Given the description of an element on the screen output the (x, y) to click on. 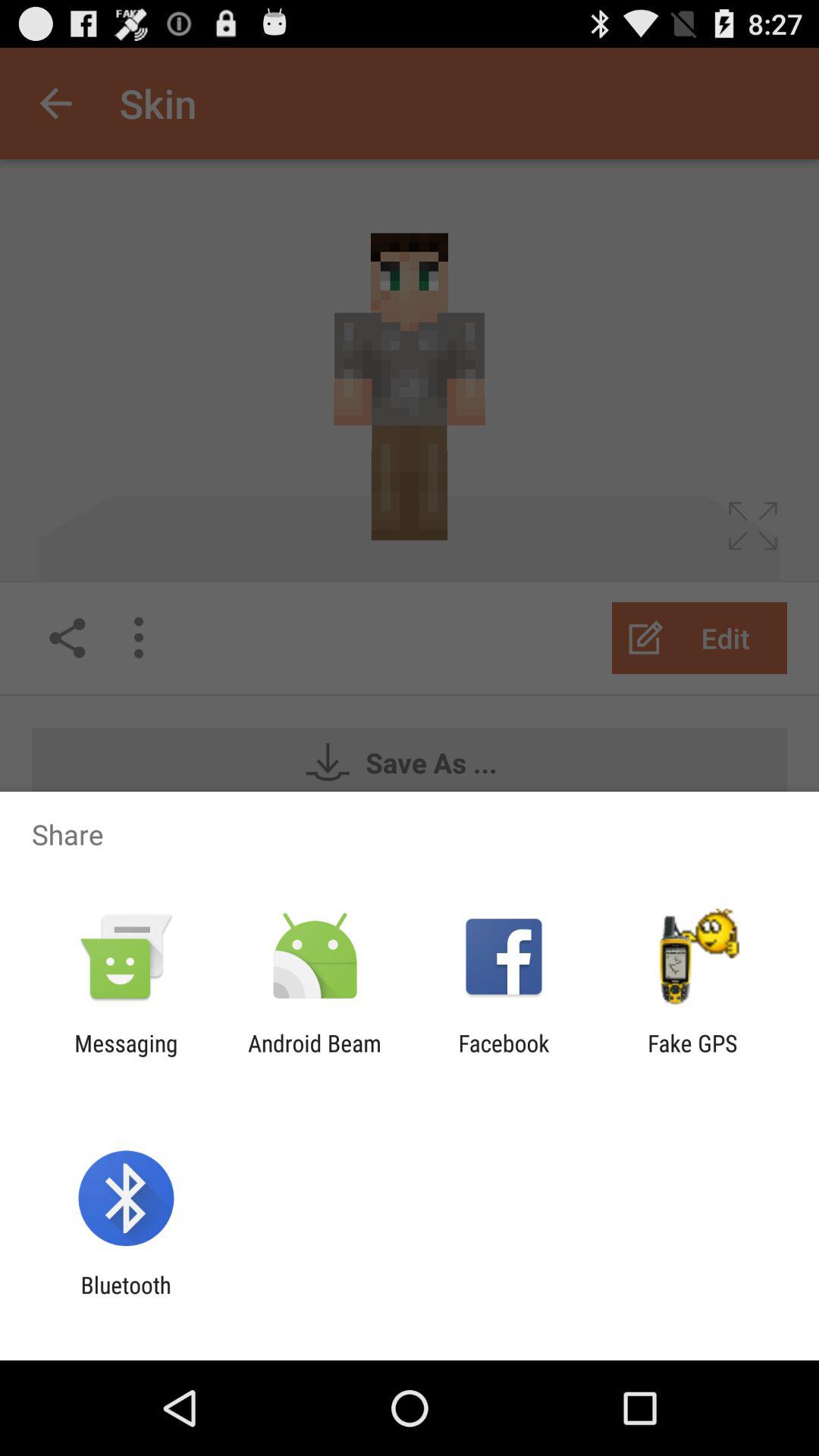
tap icon next to the messaging item (314, 1056)
